Given the description of an element on the screen output the (x, y) to click on. 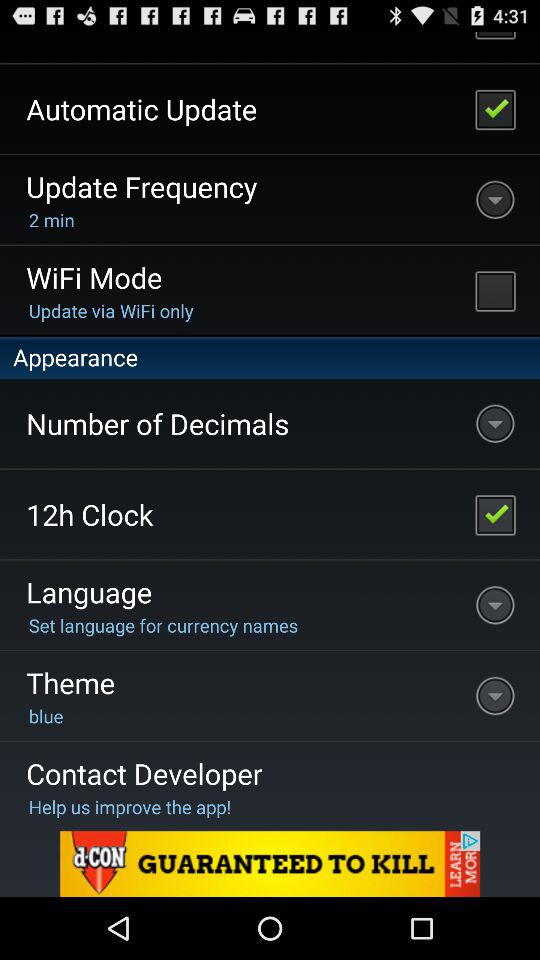
go to another site (270, 864)
